Given the description of an element on the screen output the (x, y) to click on. 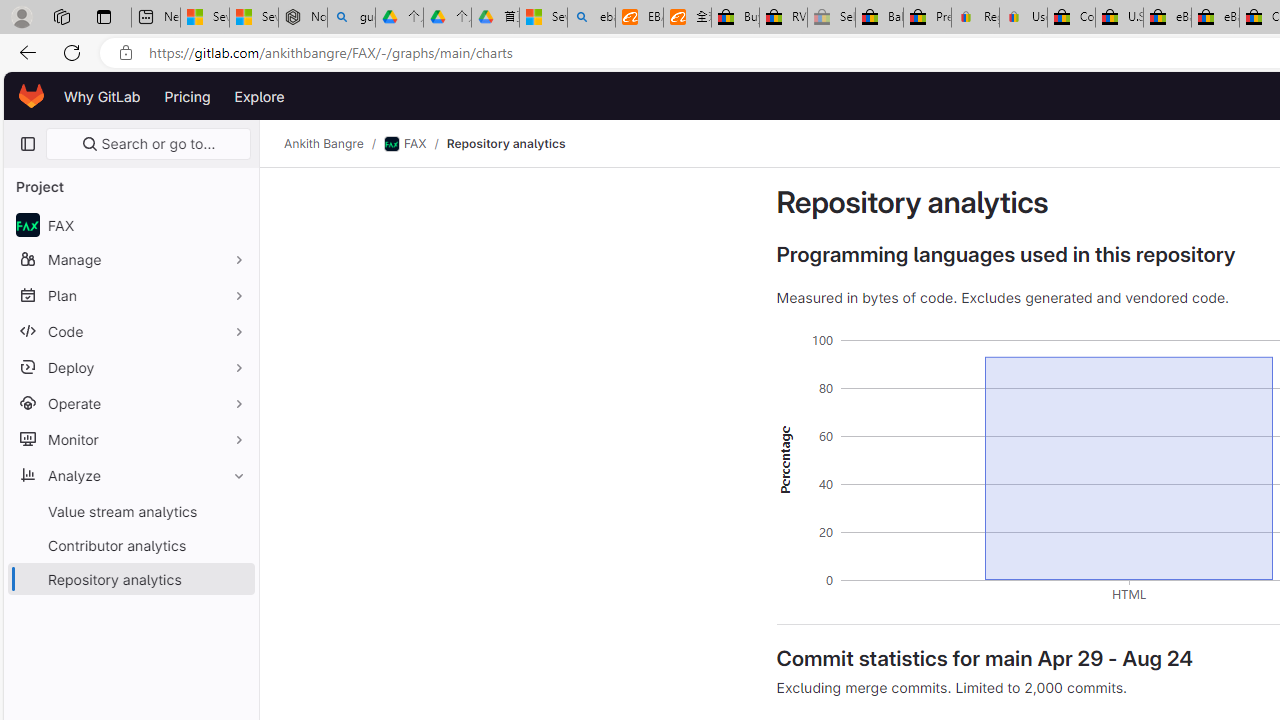
avatar FAX (130, 224)
Sell worldwide with eBay - Sleeping (831, 17)
User Privacy Notice | eBay (1023, 17)
Pricing (187, 95)
Ankith Bangre/ (334, 143)
FAX (404, 143)
Pricing (187, 95)
Value stream analytics (130, 511)
Contributor analytics (130, 544)
